Given the description of an element on the screen output the (x, y) to click on. 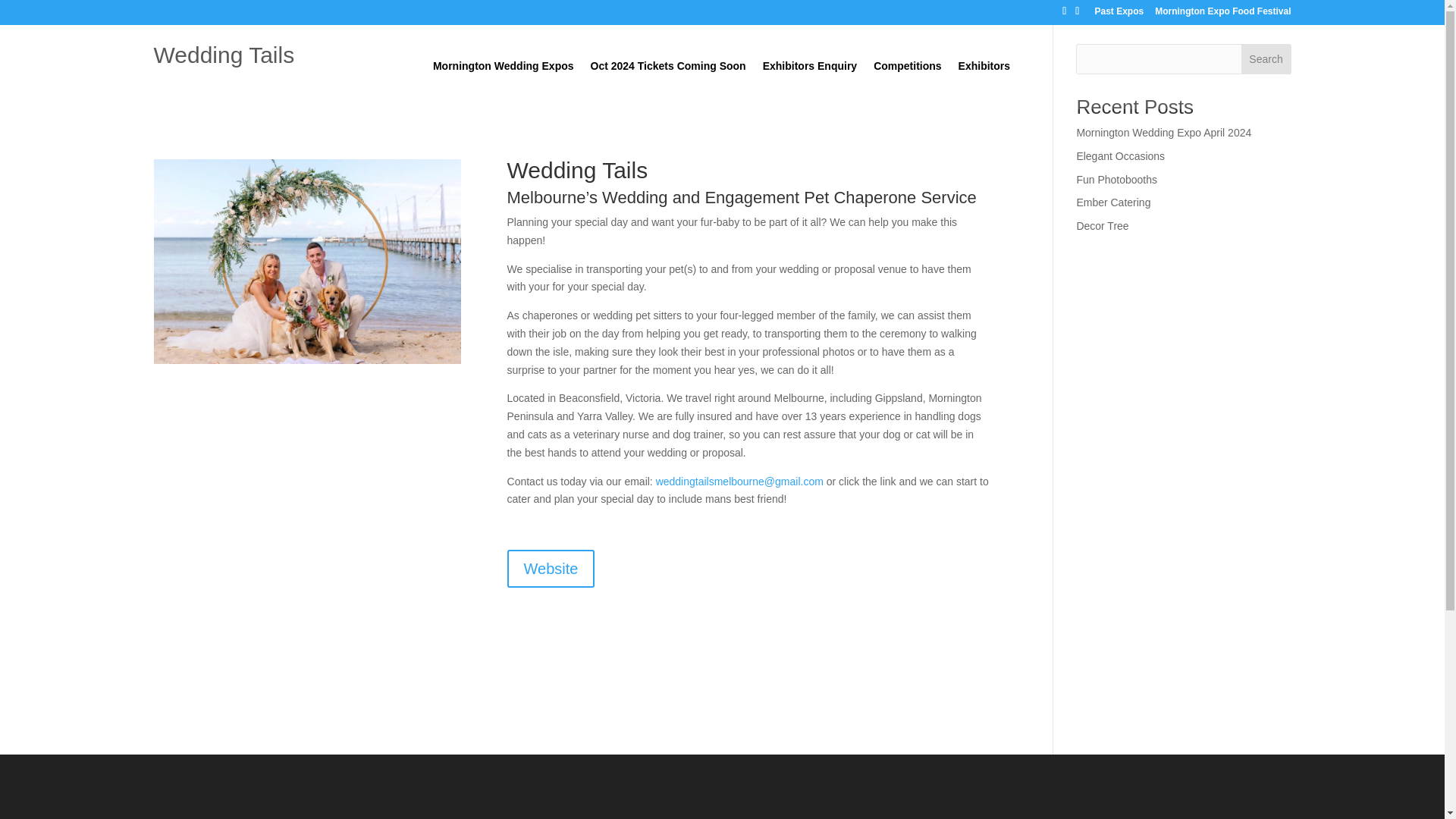
Competitions (906, 84)
Fun Photobooths (1116, 179)
Mornington Wedding Expo April 2024 (1162, 132)
Search (1266, 59)
Website (550, 568)
Elegant Occasions (1119, 155)
Mornington Wedding Expos (502, 84)
Mornington Expo Food Festival (1222, 14)
Past Expos (1118, 14)
Exhibitors Enquiry (809, 84)
Exhibitors (984, 84)
Ember Catering (1112, 202)
Website photo- Trent and Hannah wedding tails melbourne (306, 260)
Oct 2024 Tickets Coming Soon (668, 84)
Decor Tree (1101, 225)
